Given the description of an element on the screen output the (x, y) to click on. 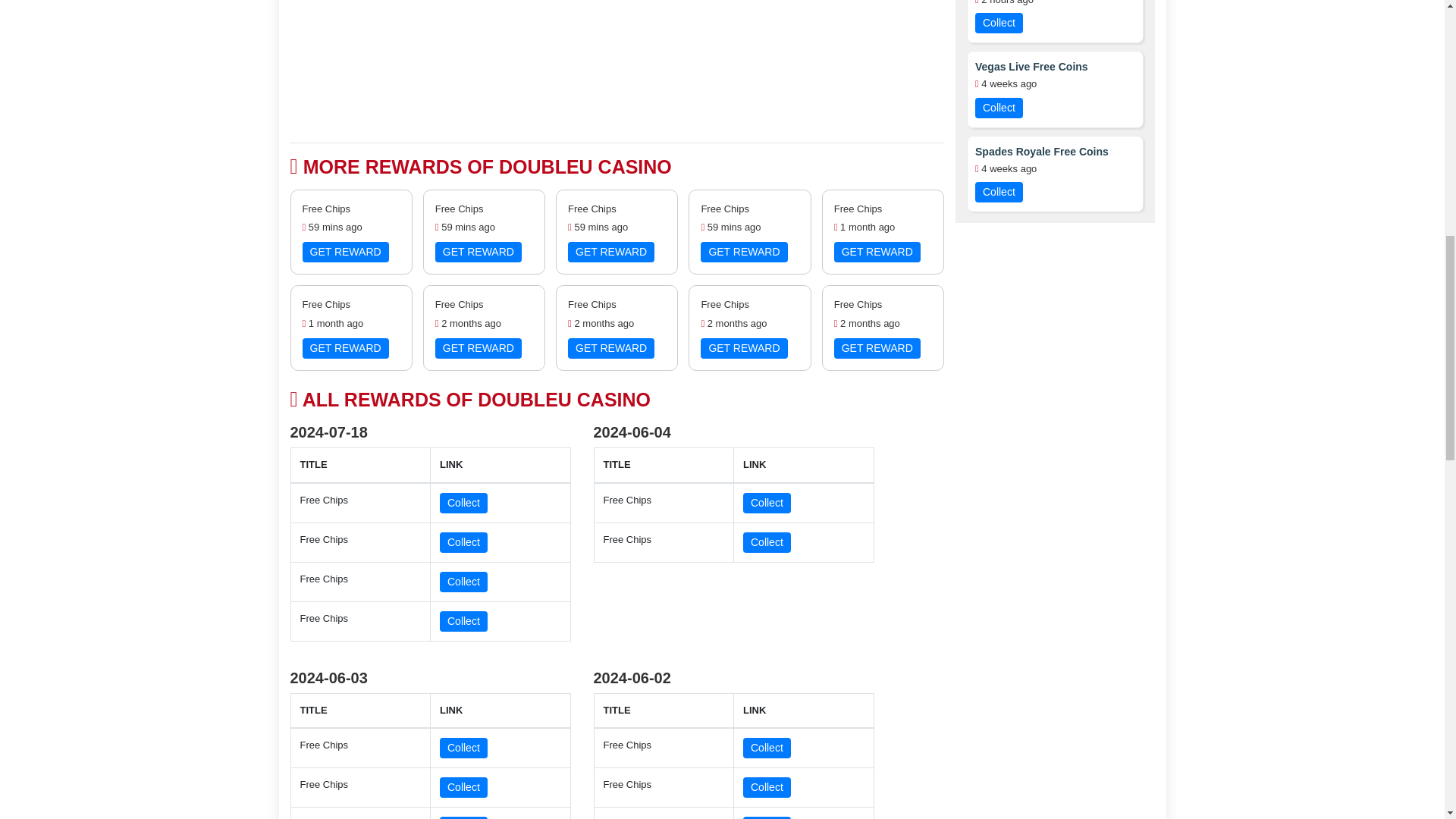
Collect (766, 542)
Collect (766, 747)
Collect (766, 817)
Collect (463, 620)
GET REWARD (877, 348)
GET REWARD (877, 251)
Collect (463, 787)
Collect (463, 817)
GET REWARD (743, 251)
Collect (463, 542)
Collect (463, 503)
Collect (463, 581)
GET REWARD (610, 348)
GET REWARD (344, 348)
GET REWARD (743, 348)
